Given the description of an element on the screen output the (x, y) to click on. 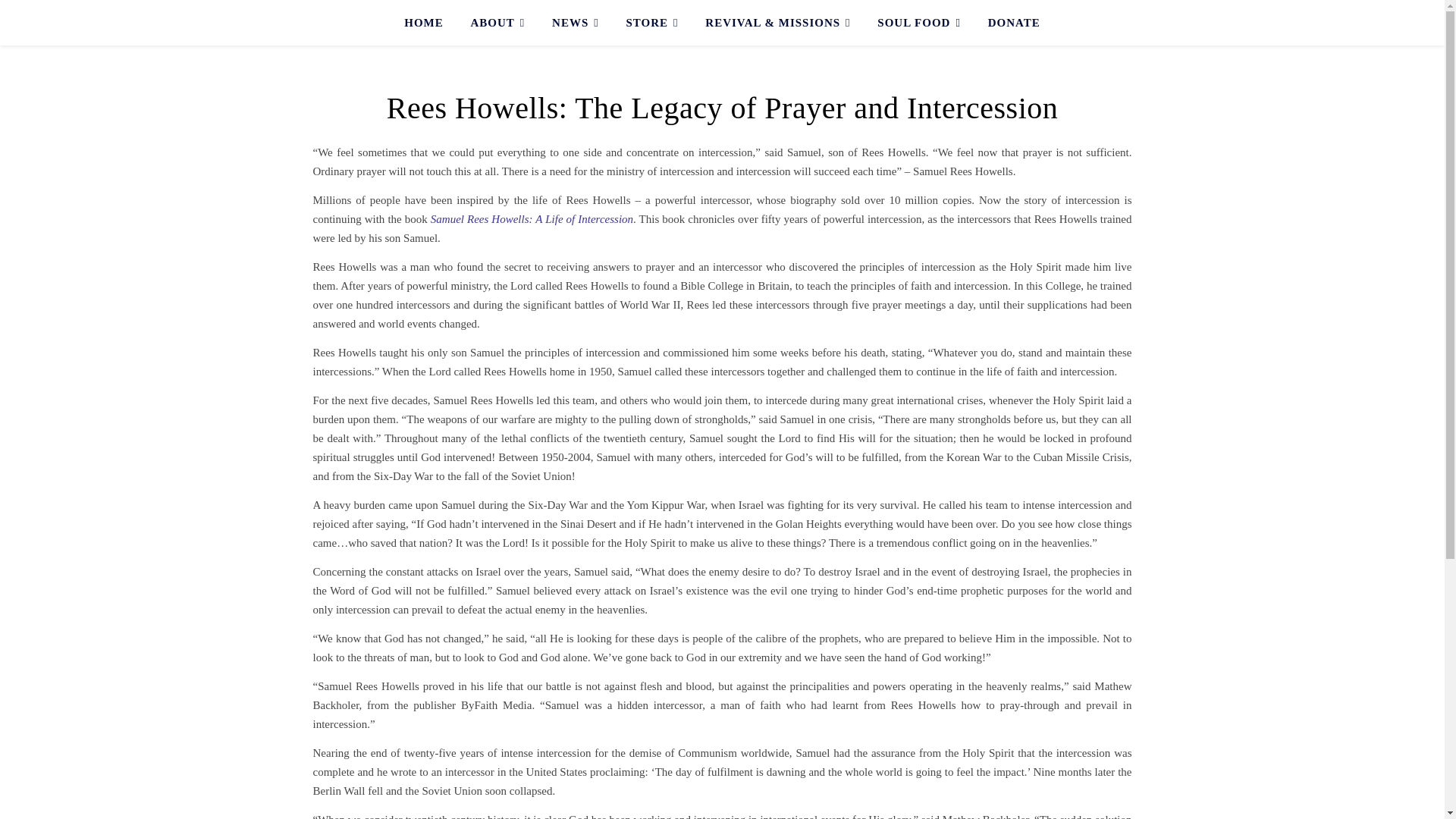
NEWS (575, 22)
By Faith (331, 22)
ABOUT (497, 22)
HOME (429, 22)
BASKET (1109, 18)
STORE (652, 22)
